Given the description of an element on the screen output the (x, y) to click on. 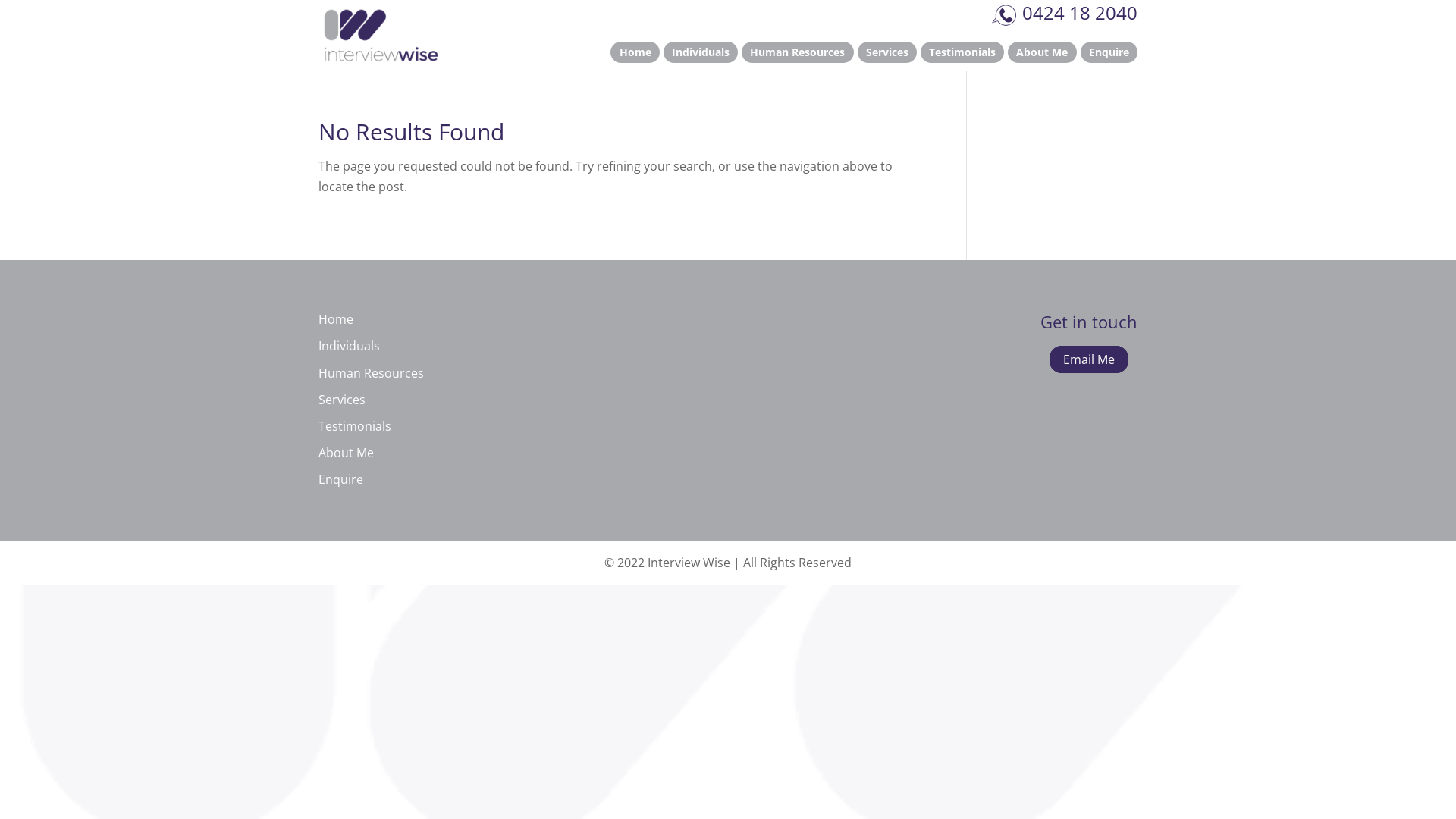
0424 18 2040 Element type: text (1063, 12)
About Me Element type: text (1041, 51)
Human Resources Element type: text (797, 51)
Home Element type: text (634, 51)
Services Element type: text (341, 399)
Individuals Element type: text (700, 51)
Services Element type: text (886, 51)
Human Resources Element type: text (370, 372)
Home Element type: text (335, 318)
Testimonials Element type: text (354, 425)
Testimonials Element type: text (962, 51)
Enquire Element type: text (340, 478)
Individuals Element type: text (348, 345)
Enquire Element type: text (1108, 51)
Email Me Element type: text (1088, 359)
About Me Element type: text (345, 452)
